Given the description of an element on the screen output the (x, y) to click on. 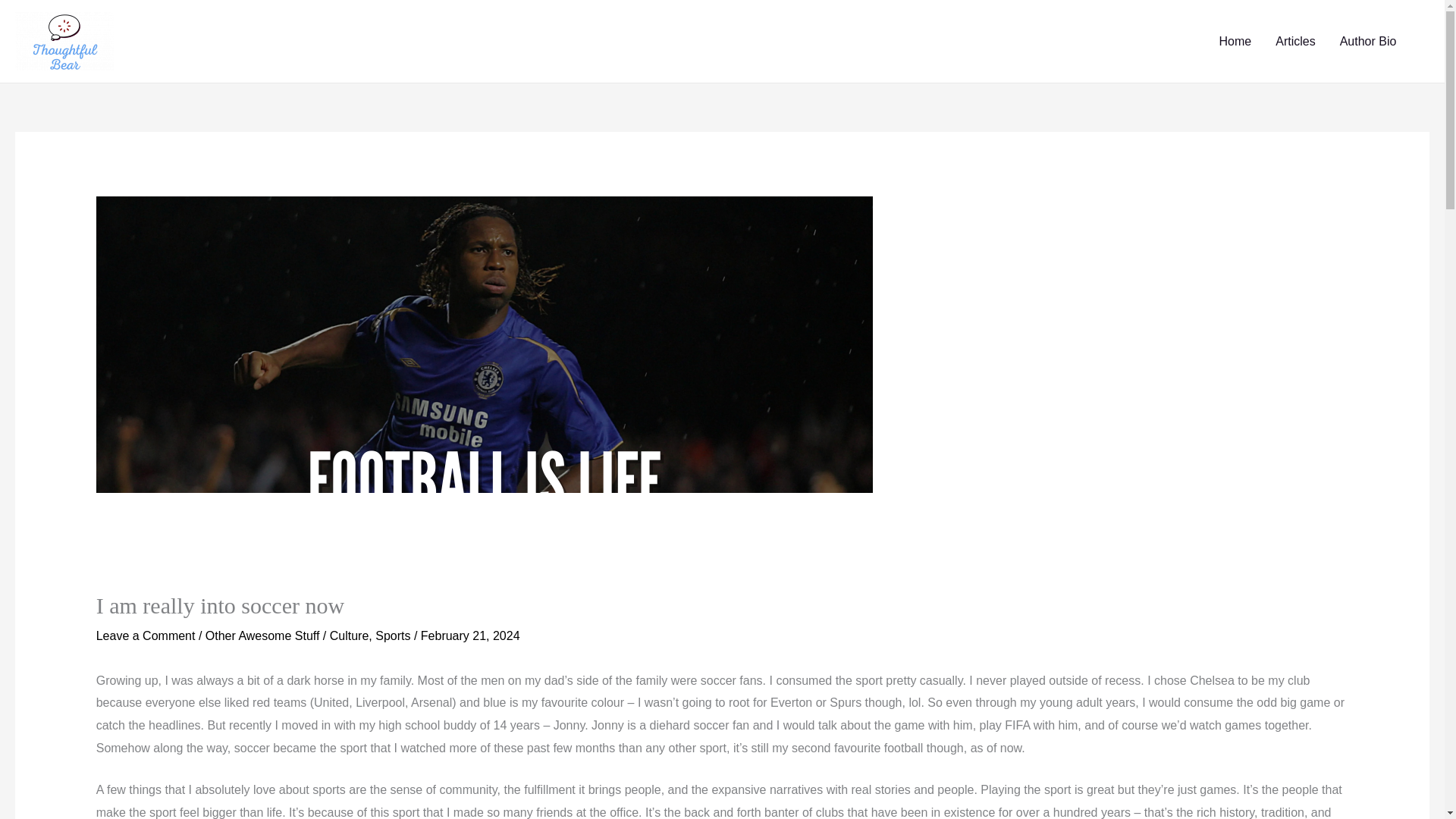
Author Bio (1368, 41)
Leave a Comment (145, 635)
Other Awesome Stuff (262, 635)
Home (1235, 41)
Articles (1294, 41)
Culture (349, 635)
Sports (392, 635)
